Given the description of an element on the screen output the (x, y) to click on. 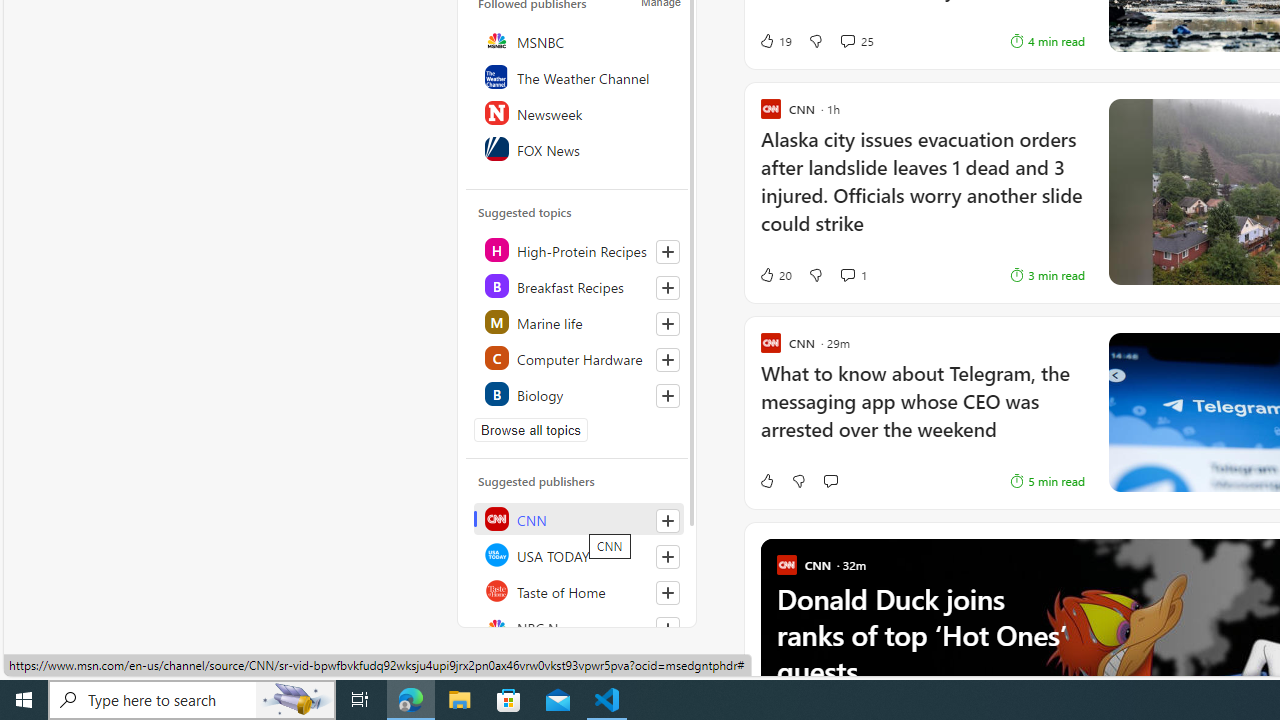
Browse all topics (530, 430)
Start the conversation (829, 480)
Taste of Home (578, 590)
CNN (578, 518)
View comments 25 Comment (847, 40)
Newsweek (578, 112)
FOX News (578, 148)
Like (766, 480)
19 Like (775, 40)
USA TODAY (578, 554)
View comments 25 Comment (855, 40)
Follow this source (667, 628)
